Given the description of an element on the screen output the (x, y) to click on. 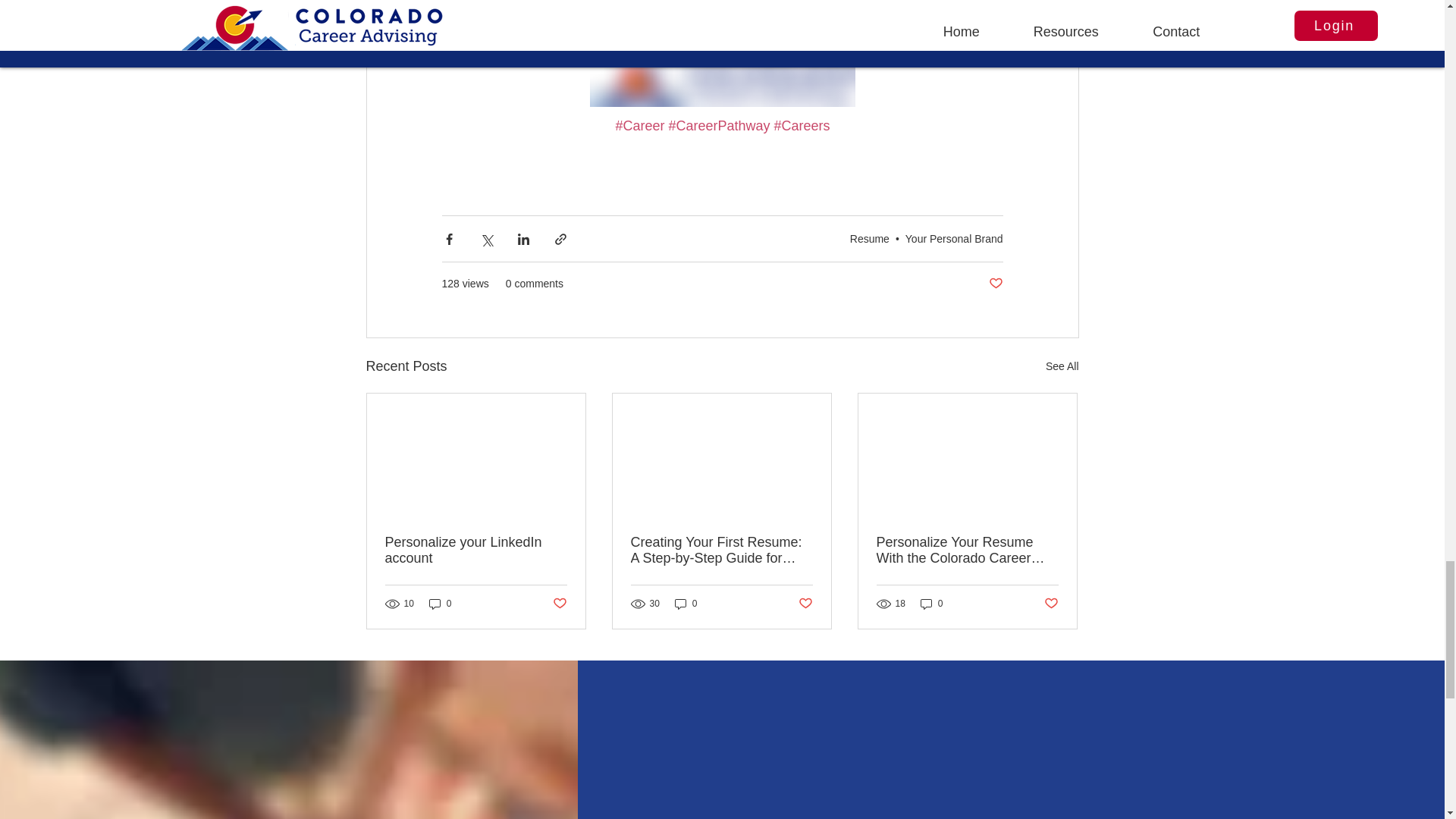
Resume (869, 238)
